Given the description of an element on the screen output the (x, y) to click on. 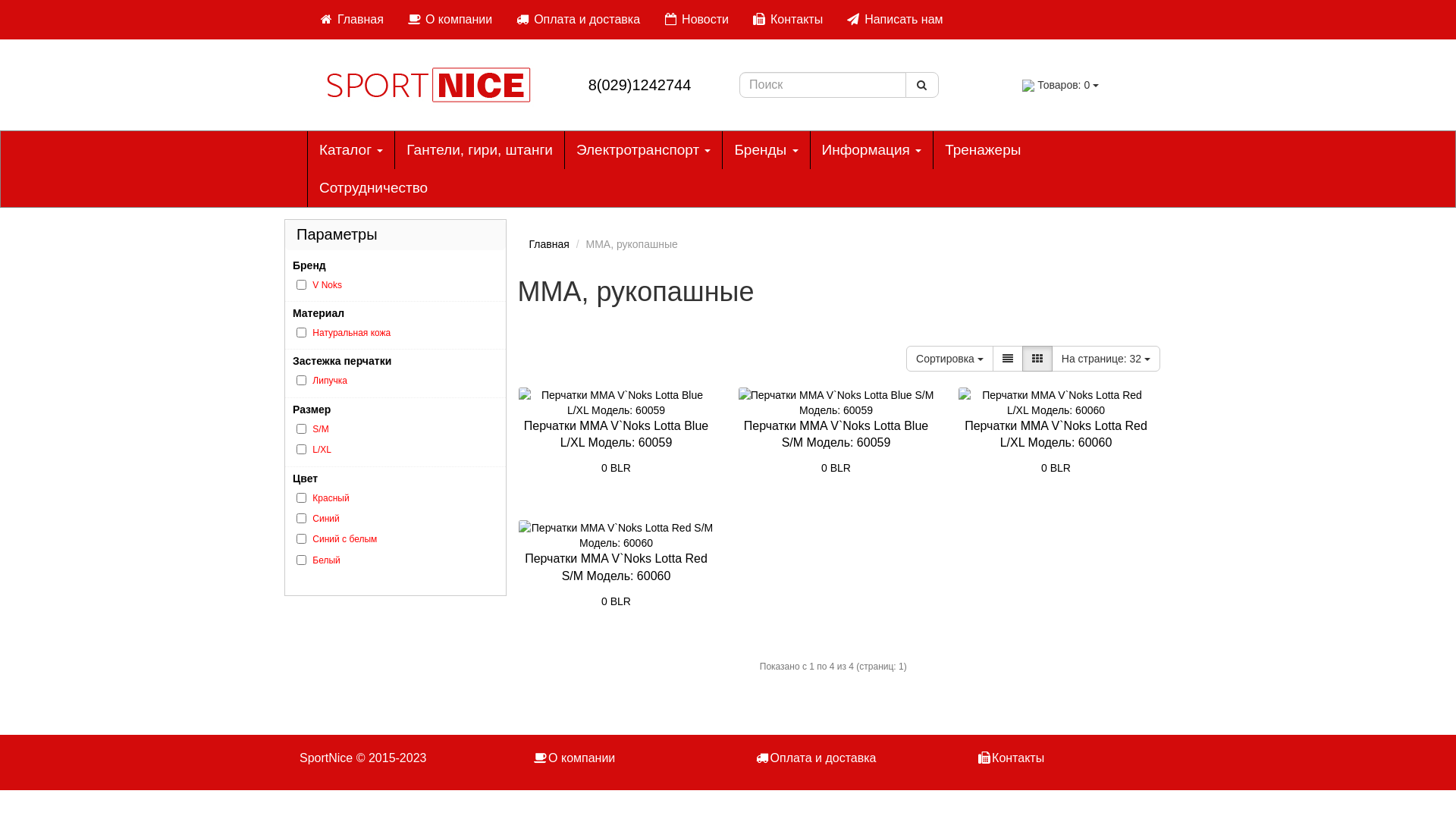
L/XL Element type: text (321, 449)
S/M Element type: text (320, 428)
V Noks Element type: text (327, 284)
8(029)1242744 Element type: text (639, 84)
